Given the description of an element on the screen output the (x, y) to click on. 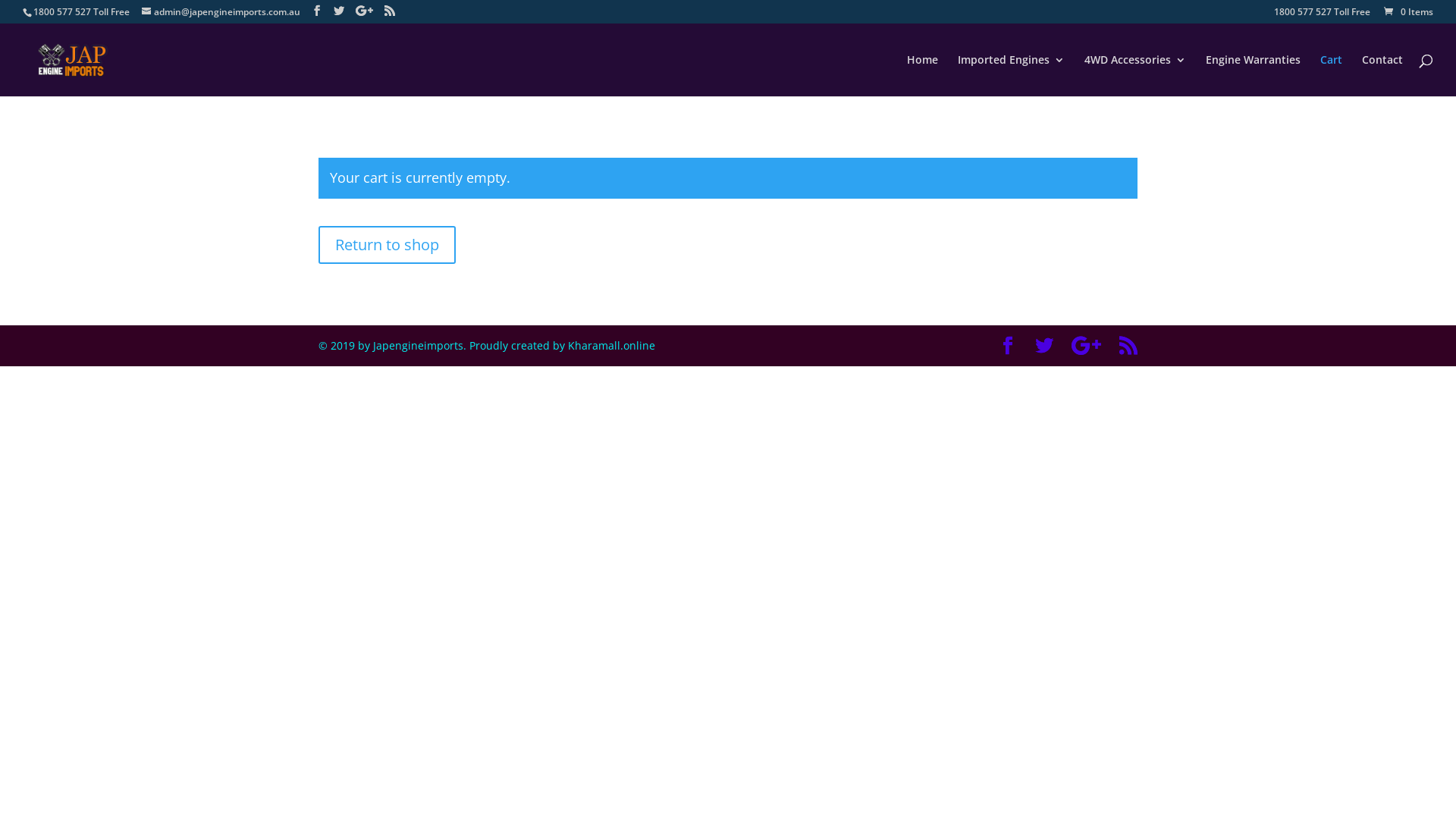
Engine Warranties Element type: text (1252, 75)
Home Element type: text (922, 75)
admin@japengineimports.com.au Element type: text (220, 11)
Imported Engines Element type: text (1010, 75)
0 Items Element type: text (1407, 11)
Return to shop Element type: text (386, 244)
4WD Accessories Element type: text (1135, 75)
1800 577 527 Toll Free Element type: text (1322, 15)
Cart Element type: text (1331, 75)
Contact Element type: text (1381, 75)
